Given the description of an element on the screen output the (x, y) to click on. 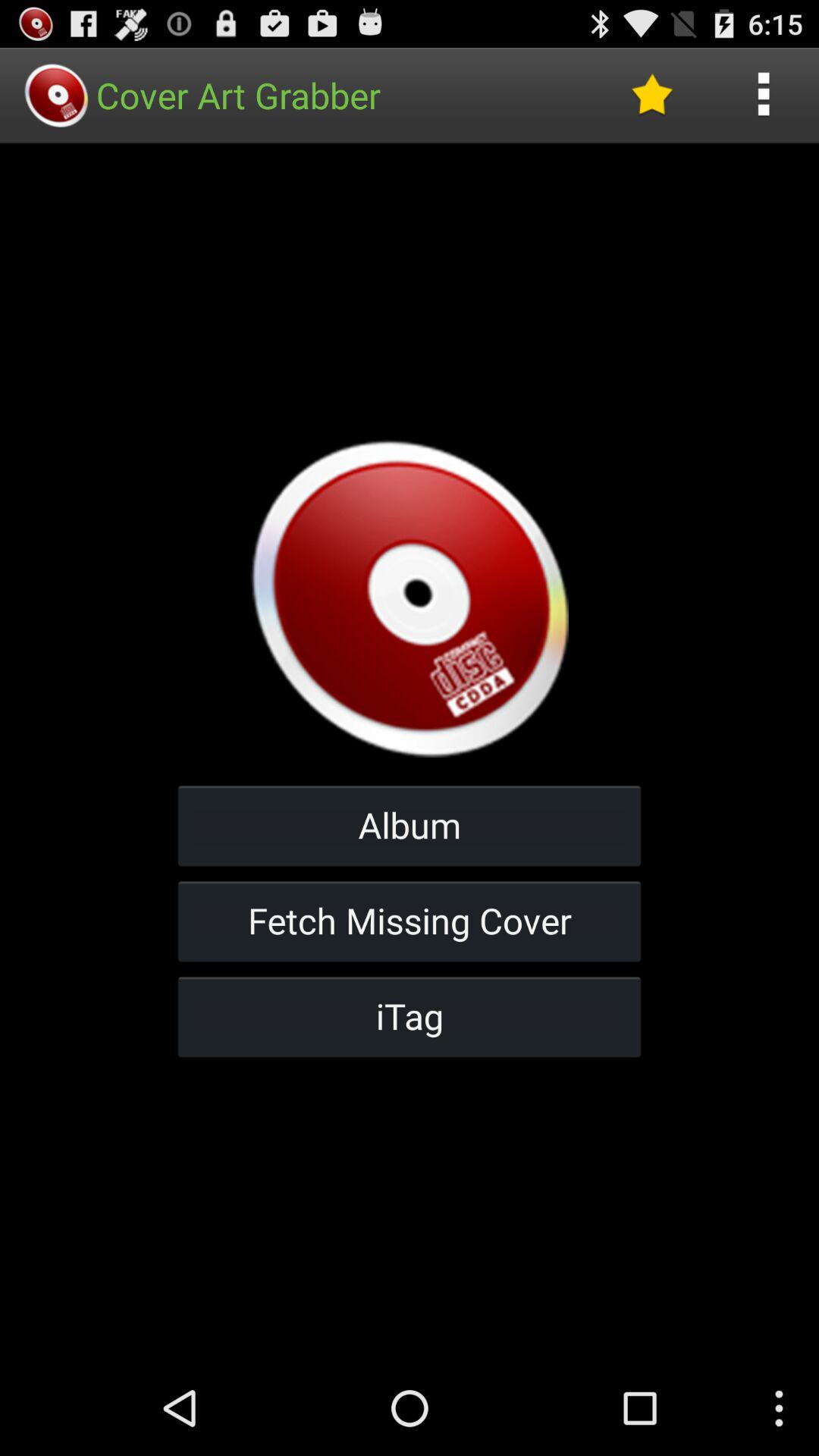
turn on button above fetch missing cover (409, 825)
